Given the description of an element on the screen output the (x, y) to click on. 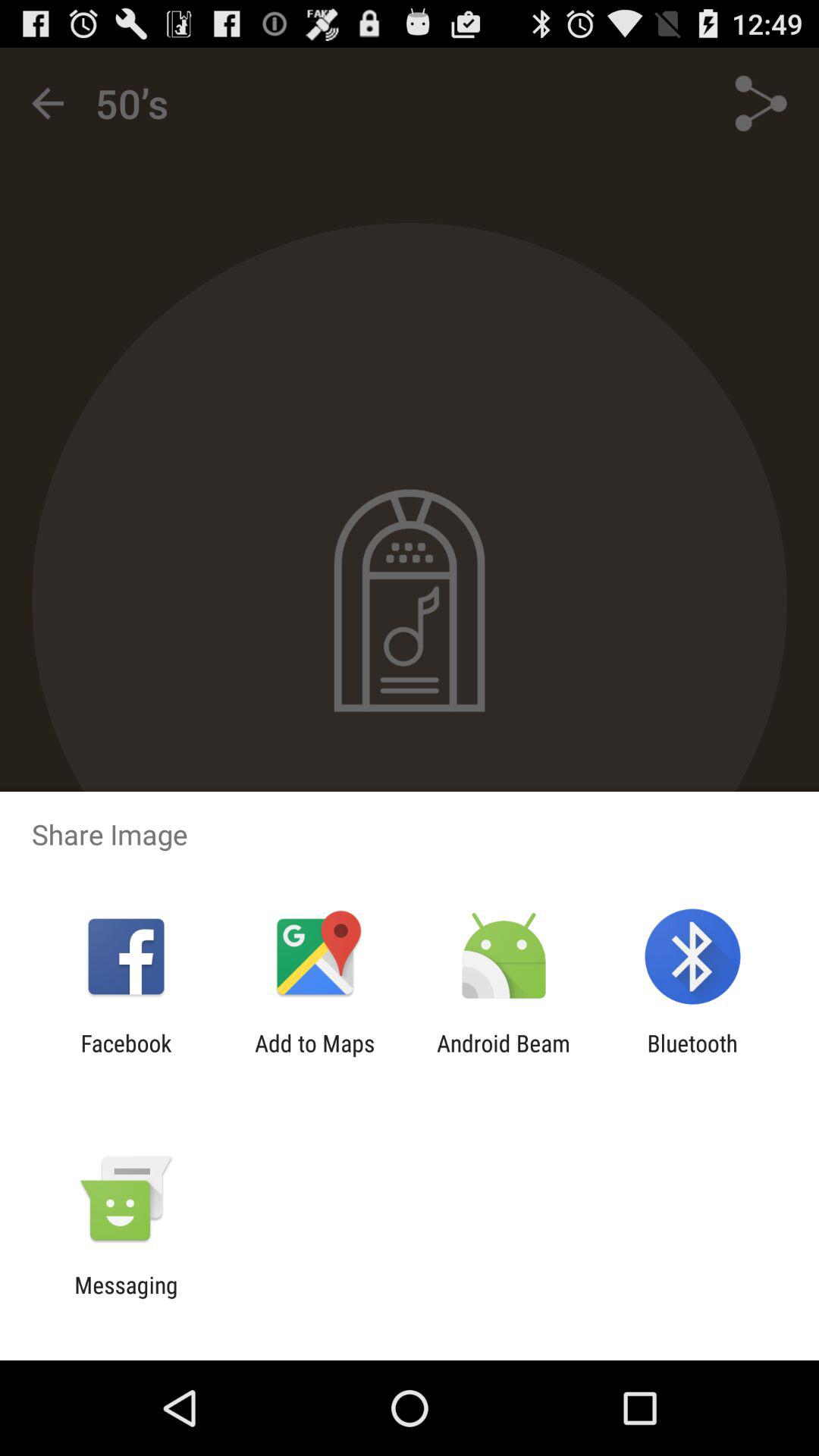
choose the app to the left of the add to maps icon (125, 1056)
